Given the description of an element on the screen output the (x, y) to click on. 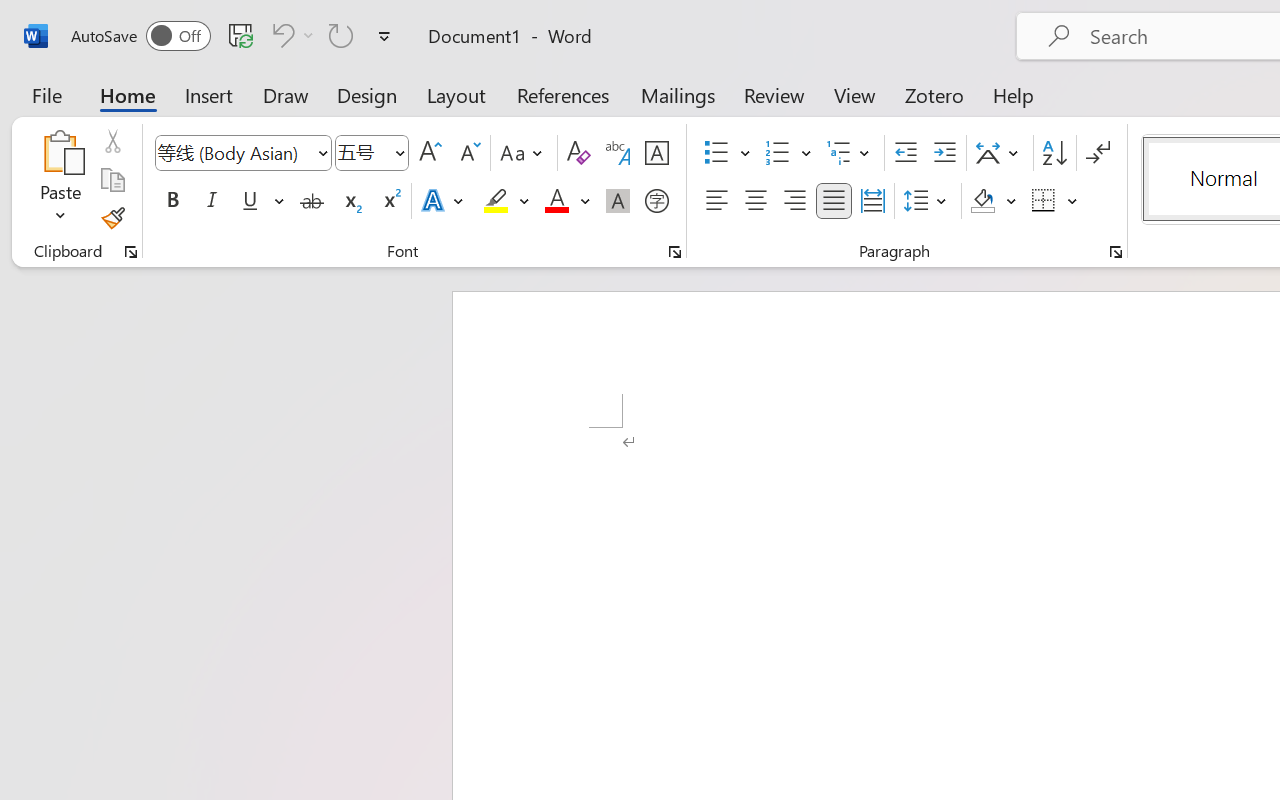
Font Color Red (556, 201)
Can't Repeat (341, 35)
